Given the description of an element on the screen output the (x, y) to click on. 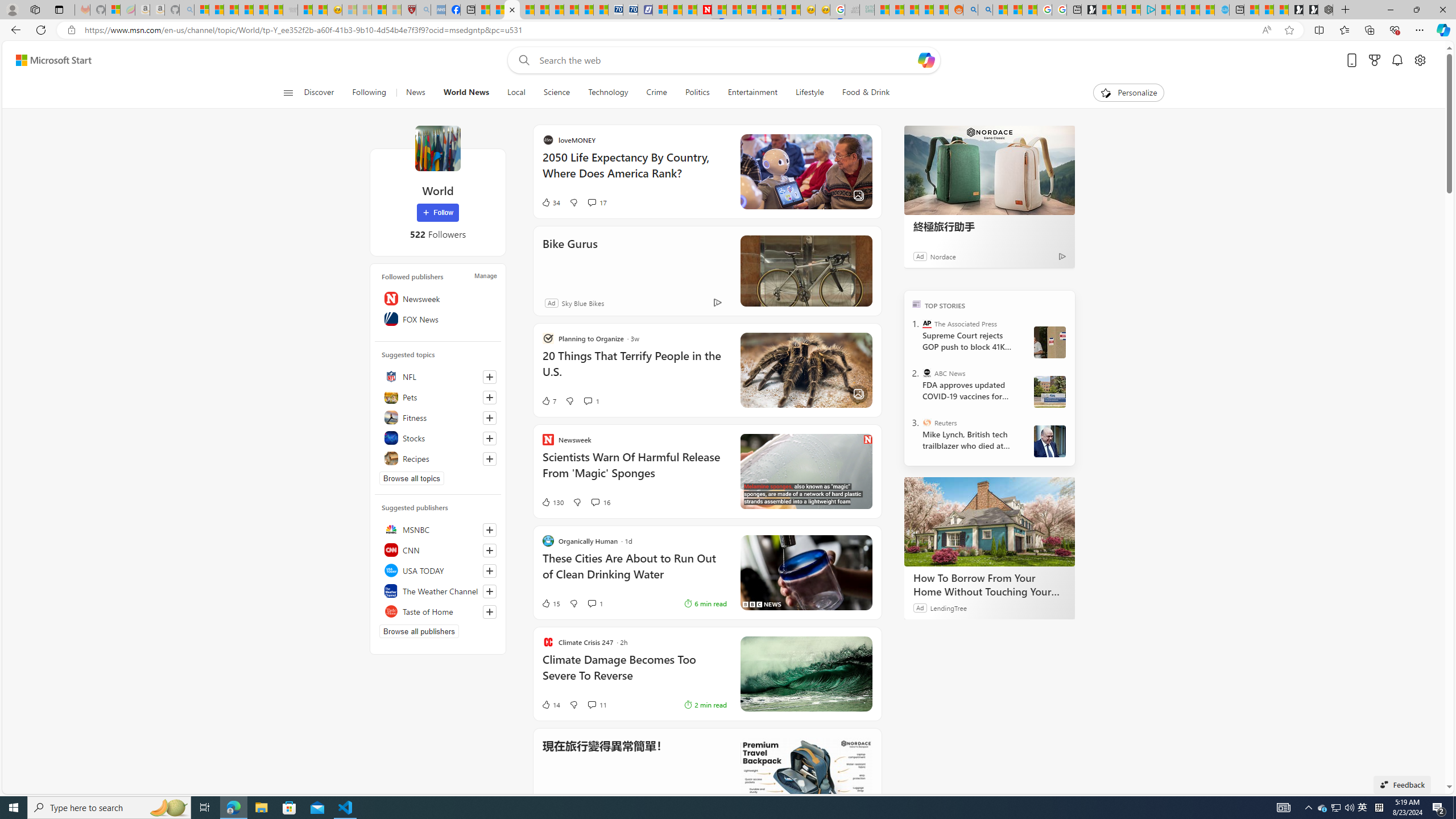
Enter your search term (726, 59)
Manage (485, 275)
The Associated Press (927, 323)
Class: hero-image (805, 471)
15 Like (549, 603)
